Given the description of an element on the screen output the (x, y) to click on. 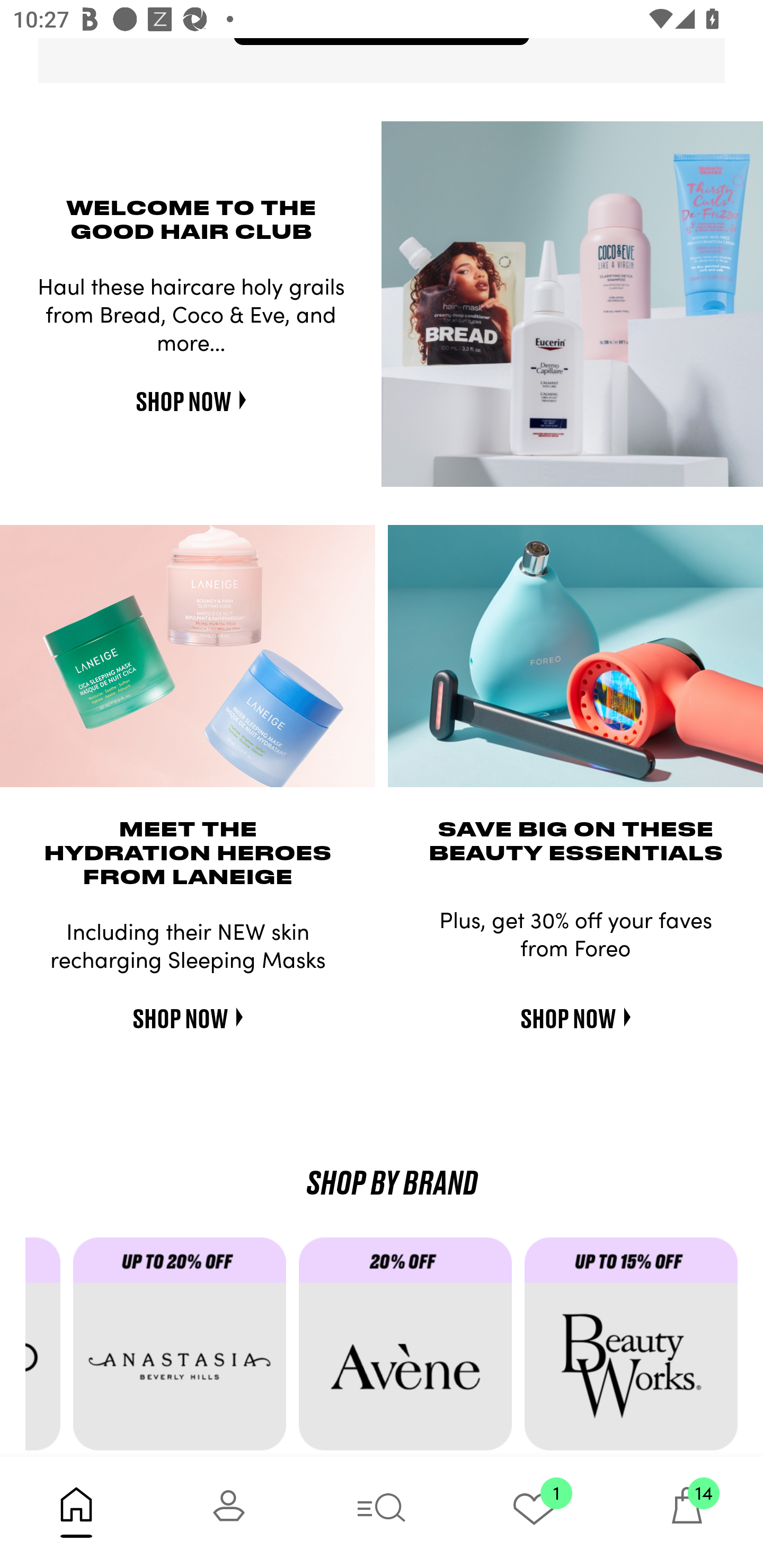
1 (533, 1512)
14 (686, 1512)
